Given the description of an element on the screen output the (x, y) to click on. 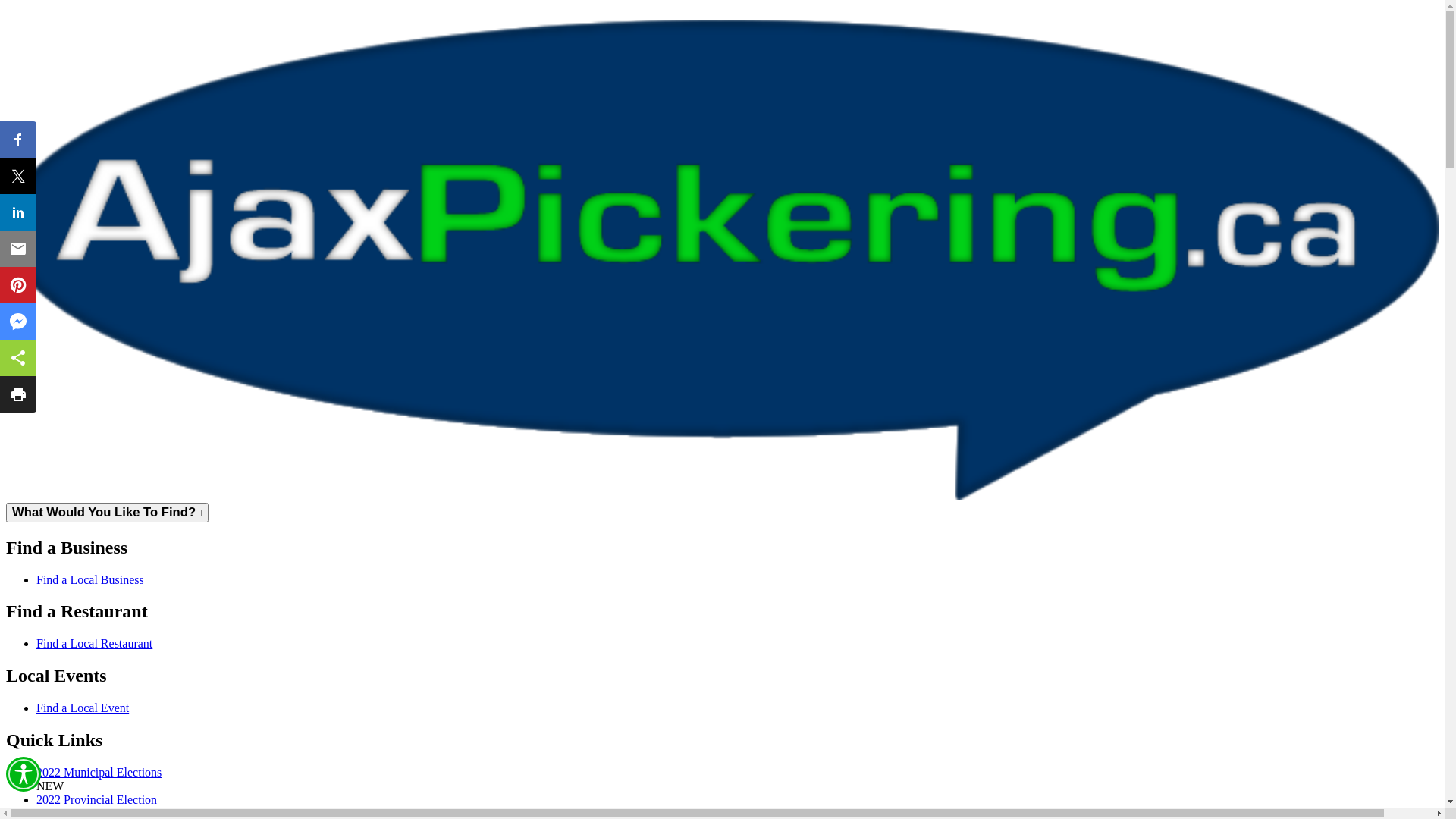
Find a Local Event Element type: text (82, 707)
2022 Provincial Election Element type: text (96, 799)
Find a Local Business Element type: text (90, 579)
Find a Local Restaurant Element type: text (94, 643)
2022 Municipal Elections Element type: text (98, 771)
AjaxPickering.ca Element type: hover (722, 259)
